Given the description of an element on the screen output the (x, y) to click on. 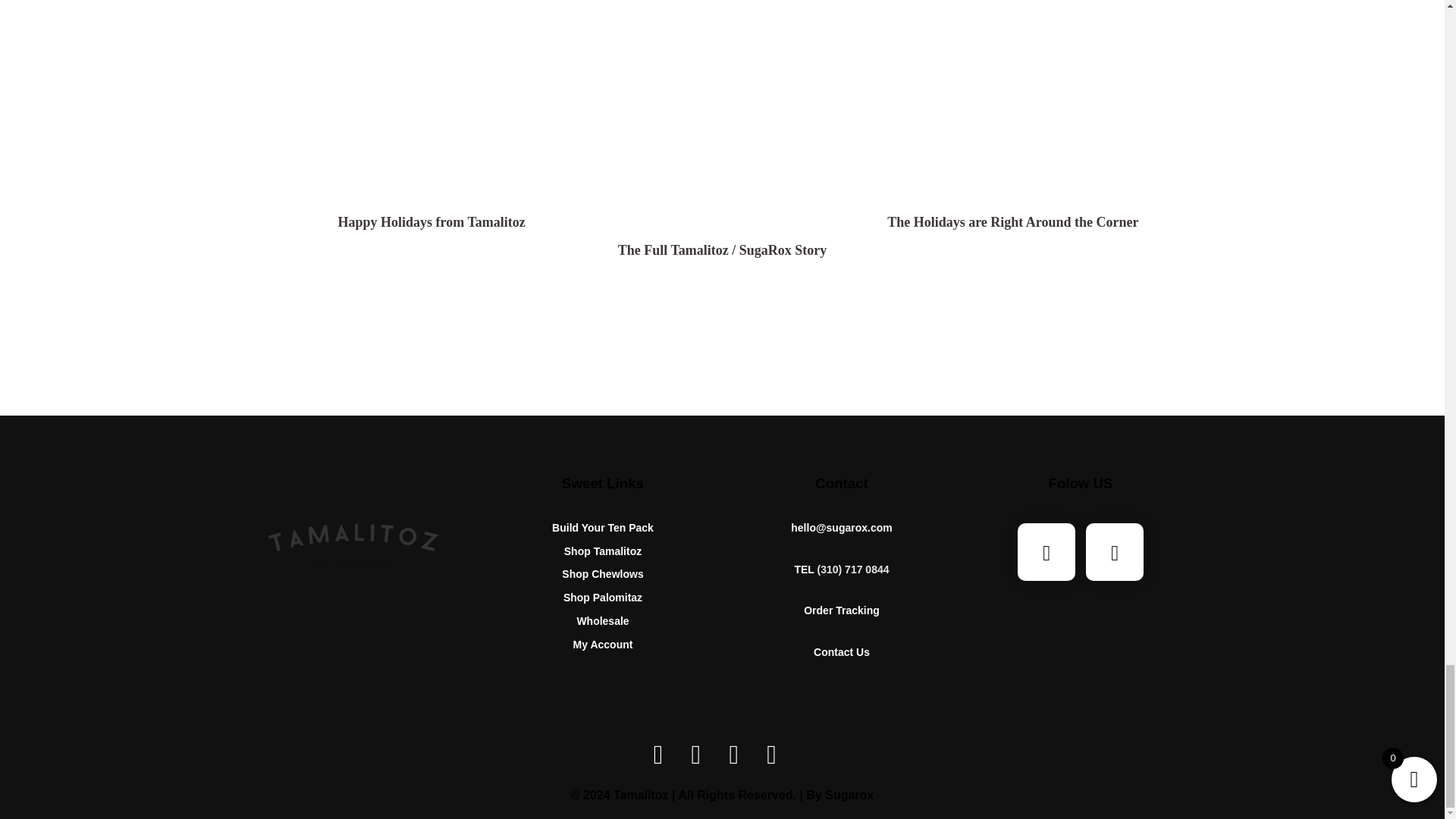
Home - New 10 (430, 14)
Home - New 11 (722, 28)
Home - New 12 (1013, 14)
